Given the description of an element on the screen output the (x, y) to click on. 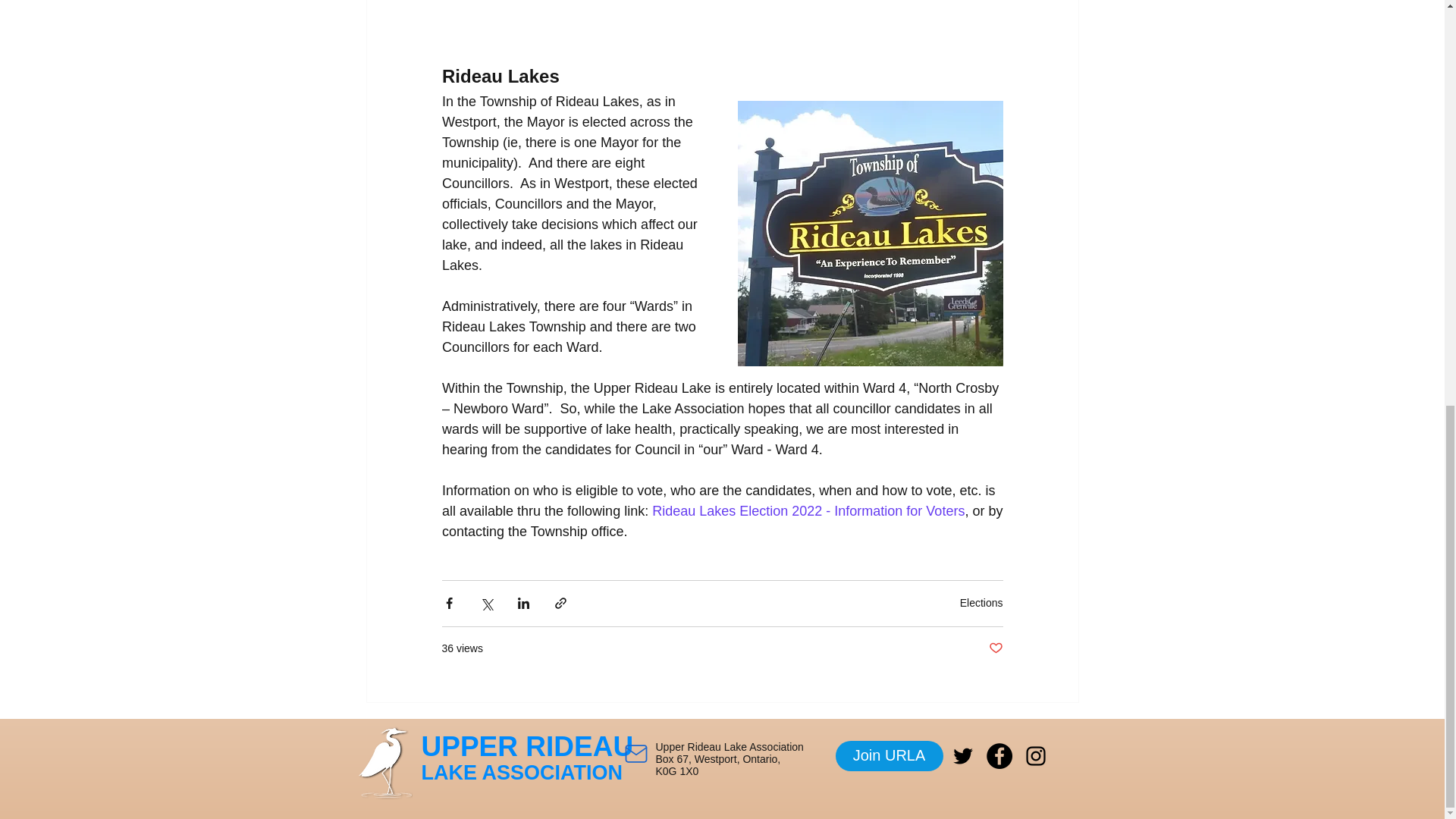
UPPER RIDEAU (527, 746)
Rideau Lakes Election 2022 - Information for Voters (807, 510)
Join URLA (889, 756)
Elections (981, 603)
LAKE ASSOCIATION (522, 772)
Post not marked as liked (995, 648)
